Given the description of an element on the screen output the (x, y) to click on. 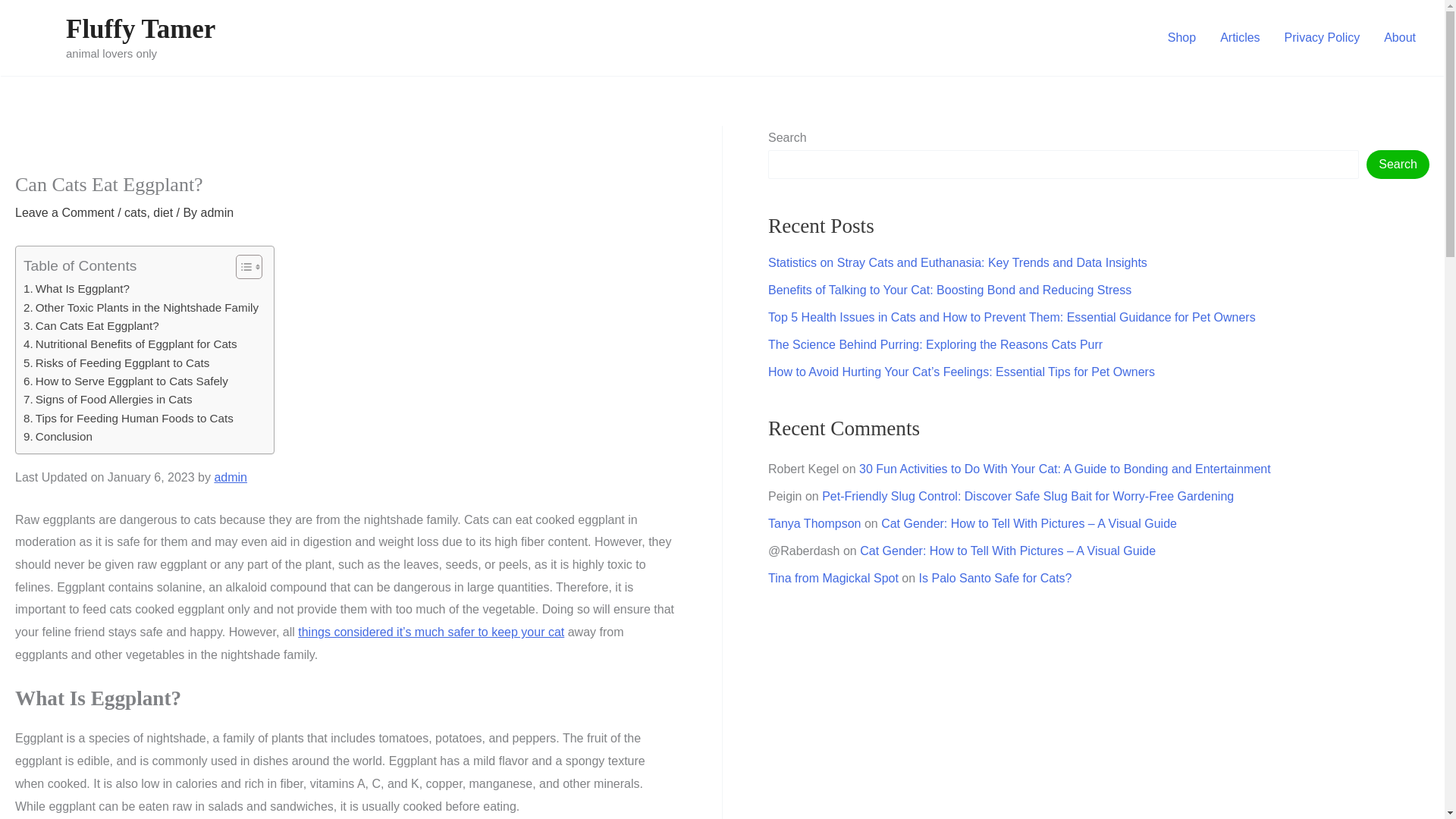
Risks of Feeding Eggplant to Cats (116, 362)
admin (217, 212)
View all posts by admin (217, 212)
How to Serve Eggplant to Cats Safely (125, 381)
How to Serve Eggplant to Cats Safely (125, 381)
Tips for Feeding Human Foods to Cats (127, 418)
Articles (1239, 37)
What Is Eggplant? (76, 289)
Risks of Feeding Eggplant to Cats (116, 362)
Conclusion (58, 436)
